Given the description of an element on the screen output the (x, y) to click on. 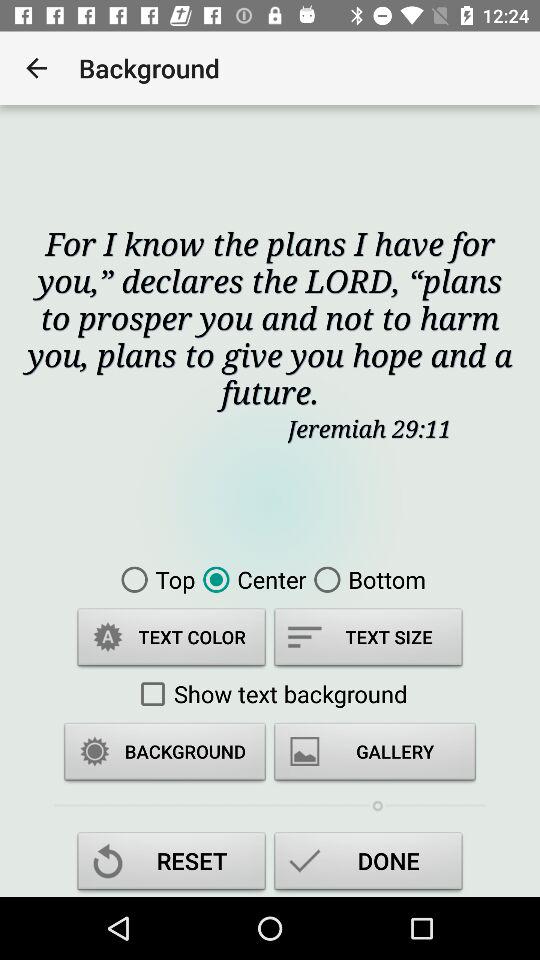
choose the icon next to the background item (36, 68)
